Given the description of an element on the screen output the (x, y) to click on. 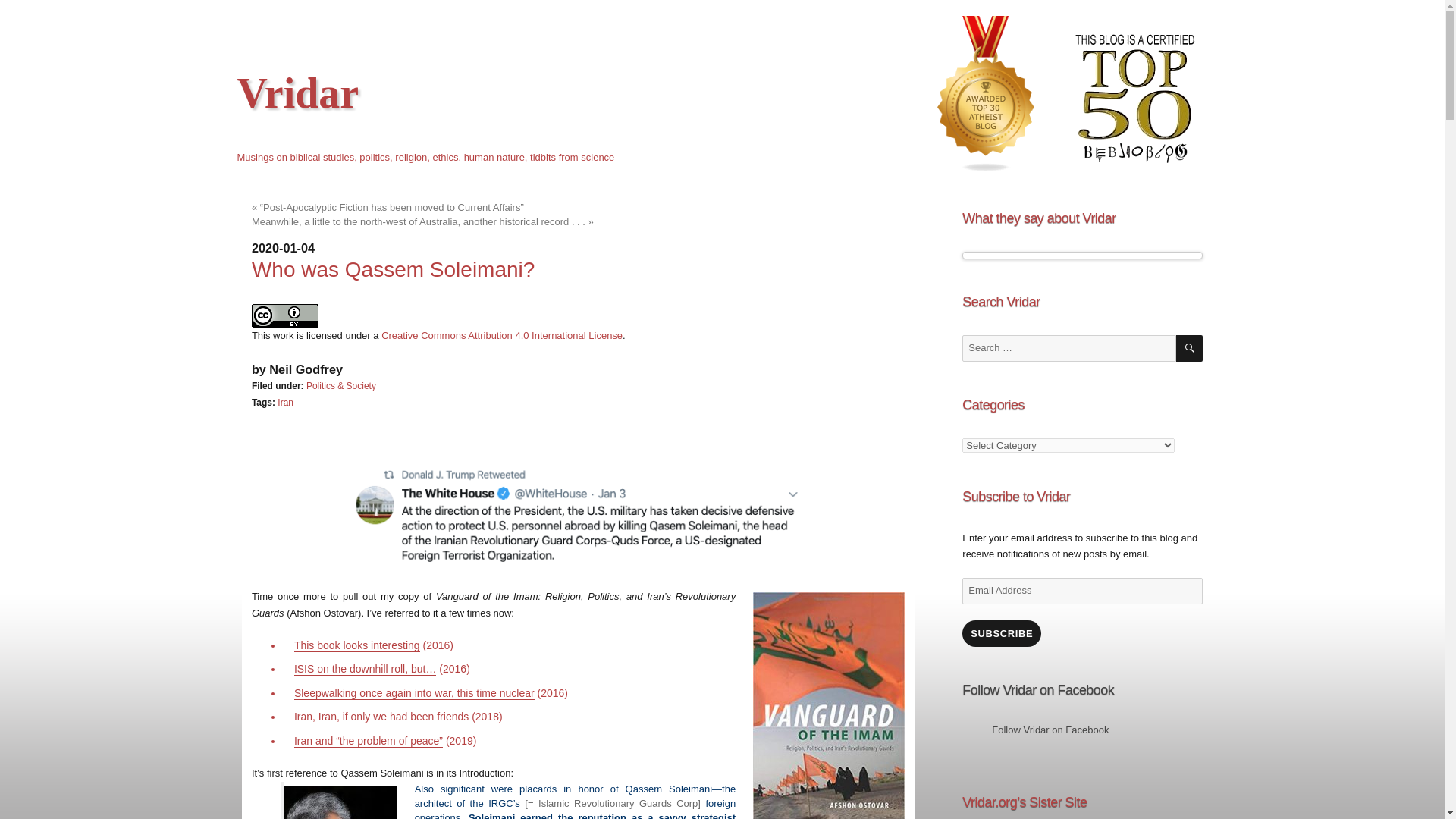
Permalink to Iran, Iran, if only we had been friends (381, 716)
Iran (286, 402)
Sleepwalking once again into war, this time nuclear (414, 693)
Creative Commons Attribution 4.0 International License (502, 335)
This book looks interesting (357, 645)
Permalink to This book looks interesting (357, 645)
Vridar (296, 93)
Iran, Iran, if only we had been friends (381, 716)
